Given the description of an element on the screen output the (x, y) to click on. 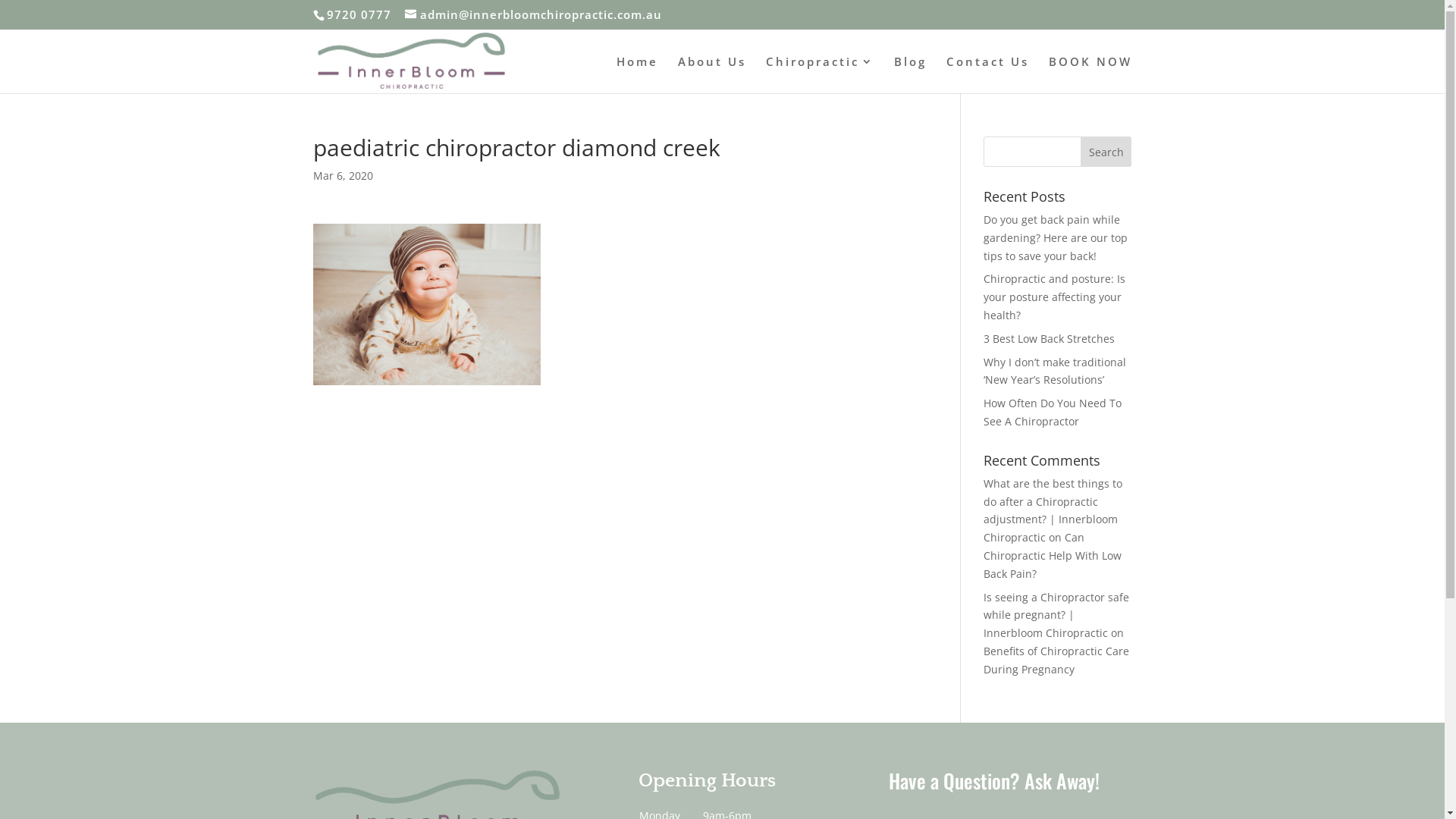
Home Element type: text (636, 74)
BOOK NOW Element type: text (1089, 74)
Contact Us Element type: text (987, 74)
admin@innerbloomchiropractic.com.au Element type: text (533, 13)
Search Element type: text (1106, 151)
Can Chiropractic Help With Low Back Pain? Element type: text (1052, 555)
Blog Element type: text (909, 74)
Benefits of Chiropractic Care During Pregnancy Element type: text (1056, 659)
How Often Do You Need To See A Chiropractor Element type: text (1052, 411)
About Us Element type: text (711, 74)
3 Best Low Back Stretches Element type: text (1048, 338)
Chiropractic Element type: text (819, 74)
